Given the description of an element on the screen output the (x, y) to click on. 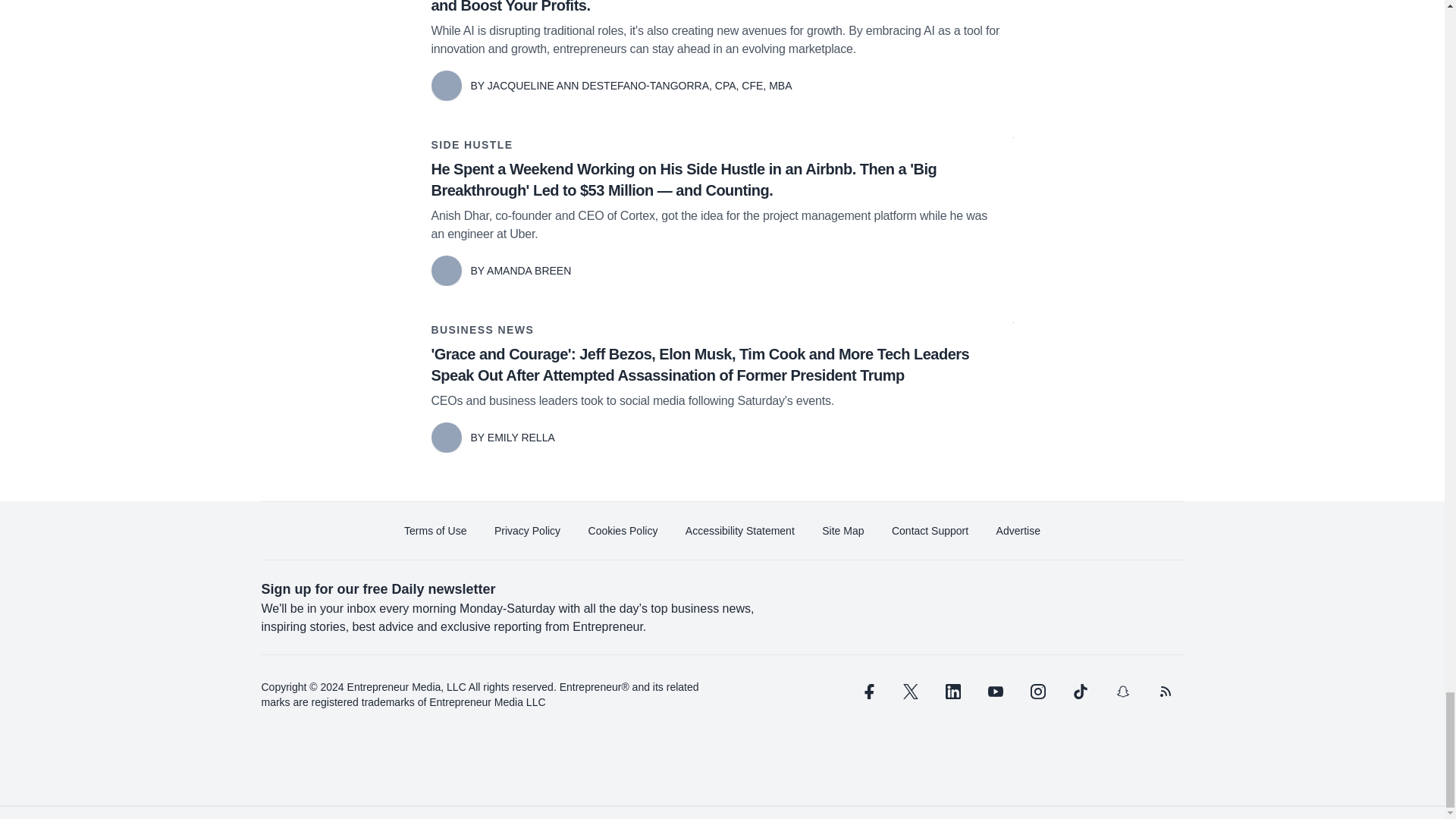
linkedin (952, 691)
snapchat (1121, 691)
tiktok (1079, 691)
facebook (866, 691)
youtube (994, 691)
twitter (909, 691)
instagram (1037, 691)
